Given the description of an element on the screen output the (x, y) to click on. 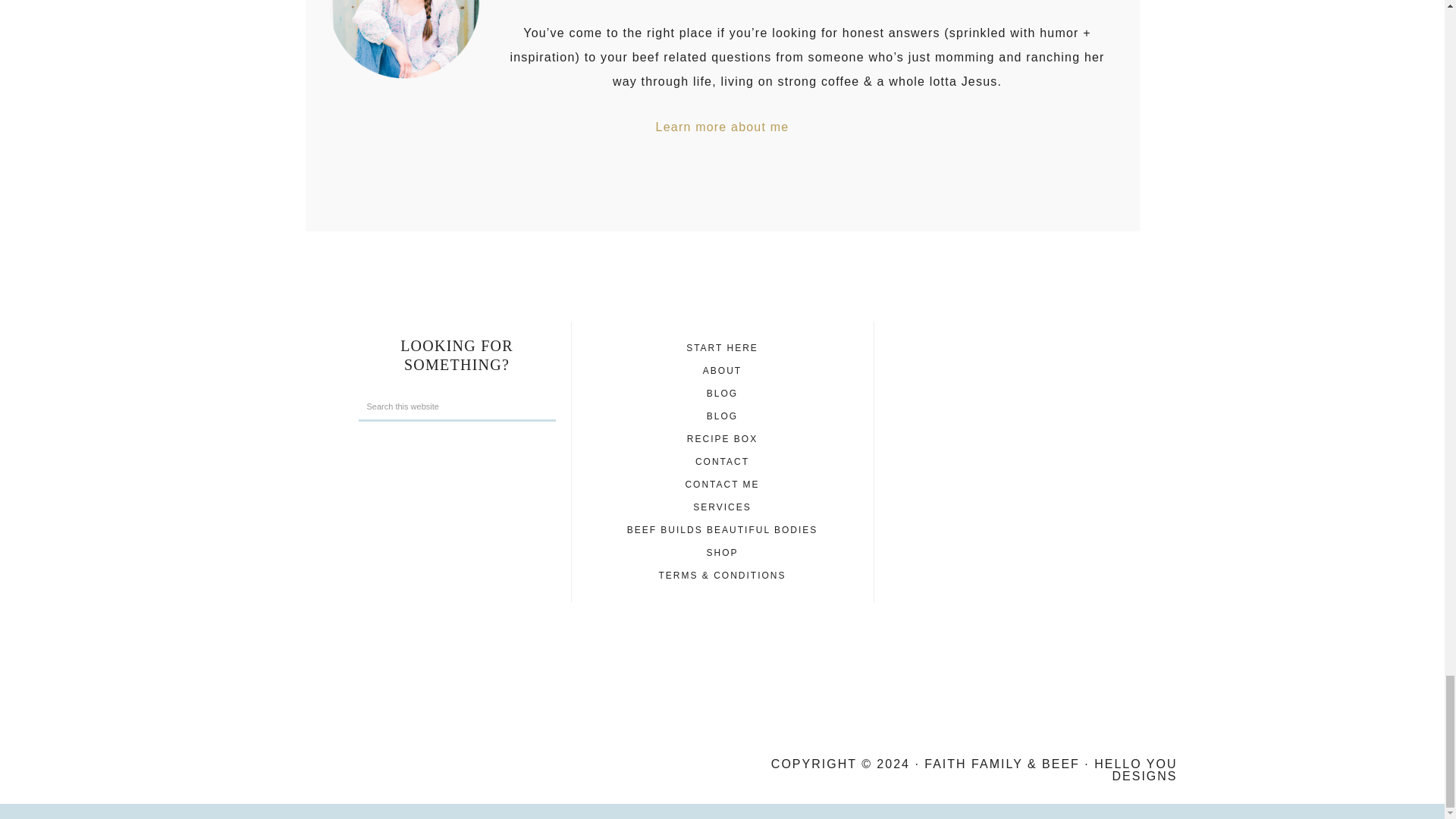
Learn more about me (722, 126)
CONTACT (722, 461)
SERVICES (722, 507)
CONTACT ME (721, 484)
RECIPE BOX (722, 439)
BLOG (722, 416)
START HERE (721, 347)
ABOUT (722, 370)
